Given the description of an element on the screen output the (x, y) to click on. 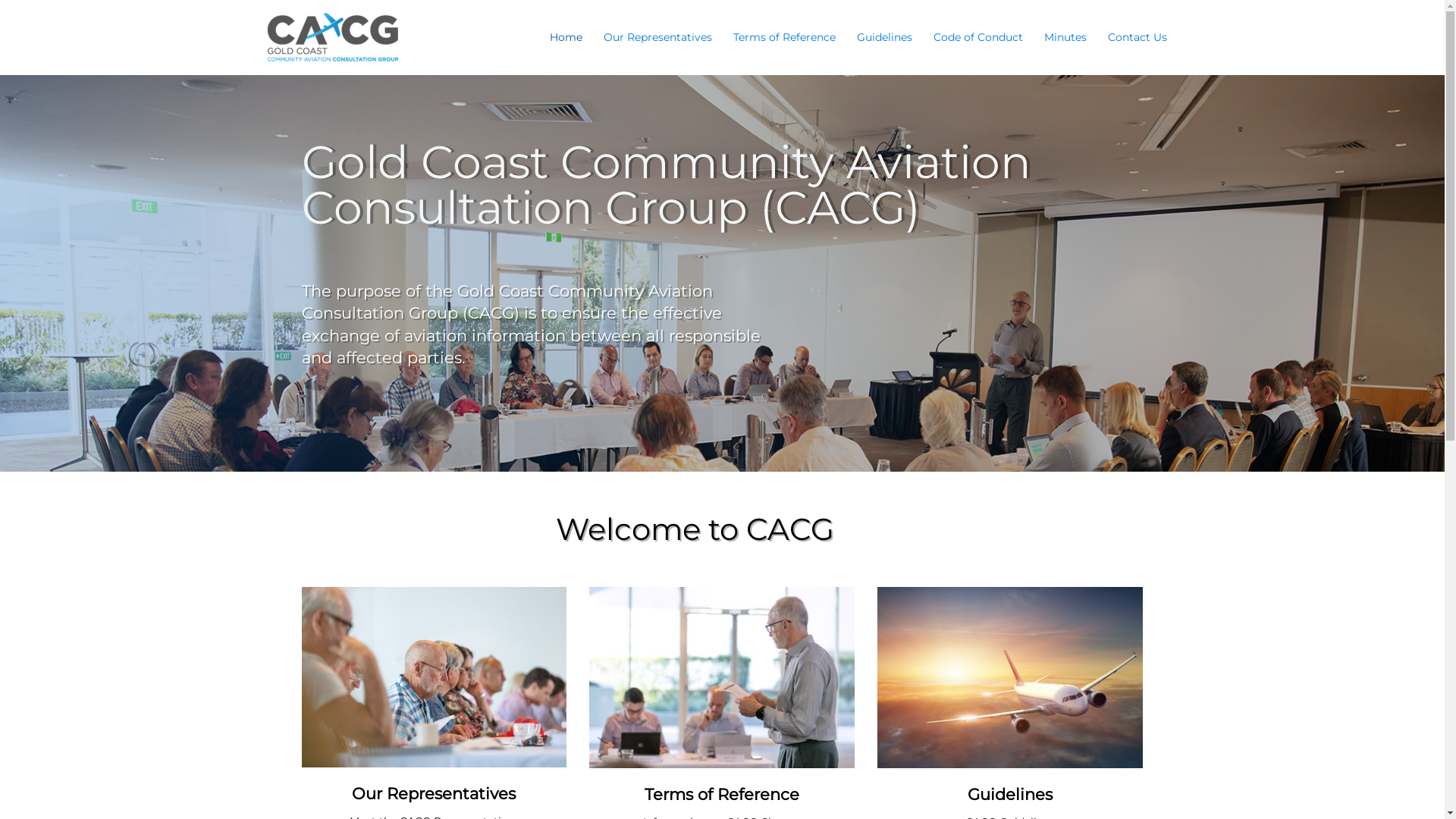
Terms of Reference Element type: text (721, 793)
Home Element type: text (565, 36)
Our Representatives Element type: text (433, 793)
Minutes Element type: text (1064, 36)
Our Representatives Element type: text (657, 36)
Guidelines Element type: text (884, 36)
Code of Conduct Element type: text (977, 36)
Terms of Reference Element type: text (783, 36)
Guidelines Element type: text (1009, 793)
Contact Us Element type: text (1136, 36)
